Given the description of an element on the screen output the (x, y) to click on. 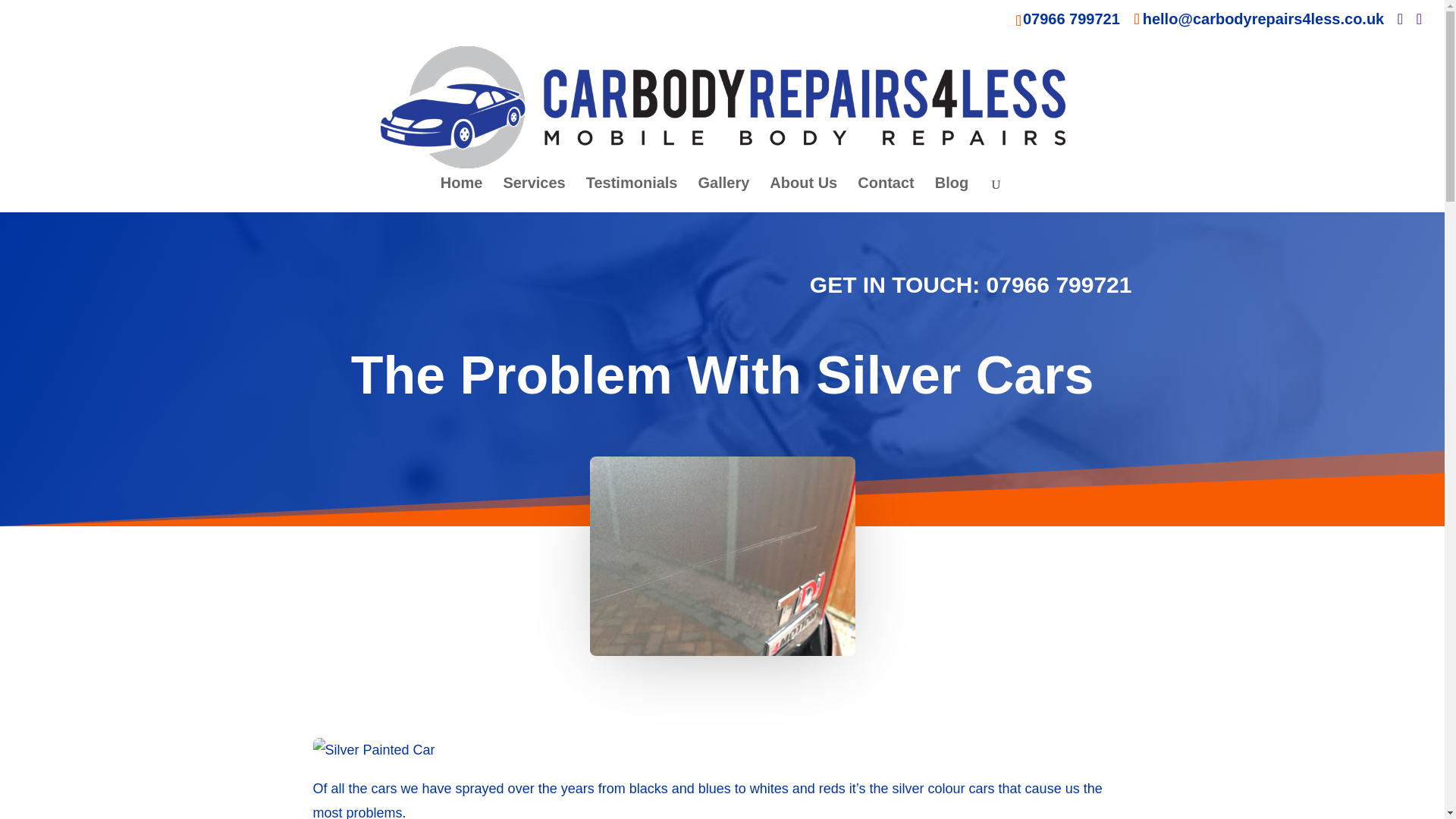
Car Scratch Damage Bishops Stortford (722, 556)
GET IN TOUCH: 07966 799721 (970, 284)
Home (462, 194)
07966 799721 (1071, 18)
Gallery (723, 194)
Services (533, 194)
Contact (885, 194)
Blog (951, 194)
About Us (803, 194)
Testimonials (632, 194)
